Given the description of an element on the screen output the (x, y) to click on. 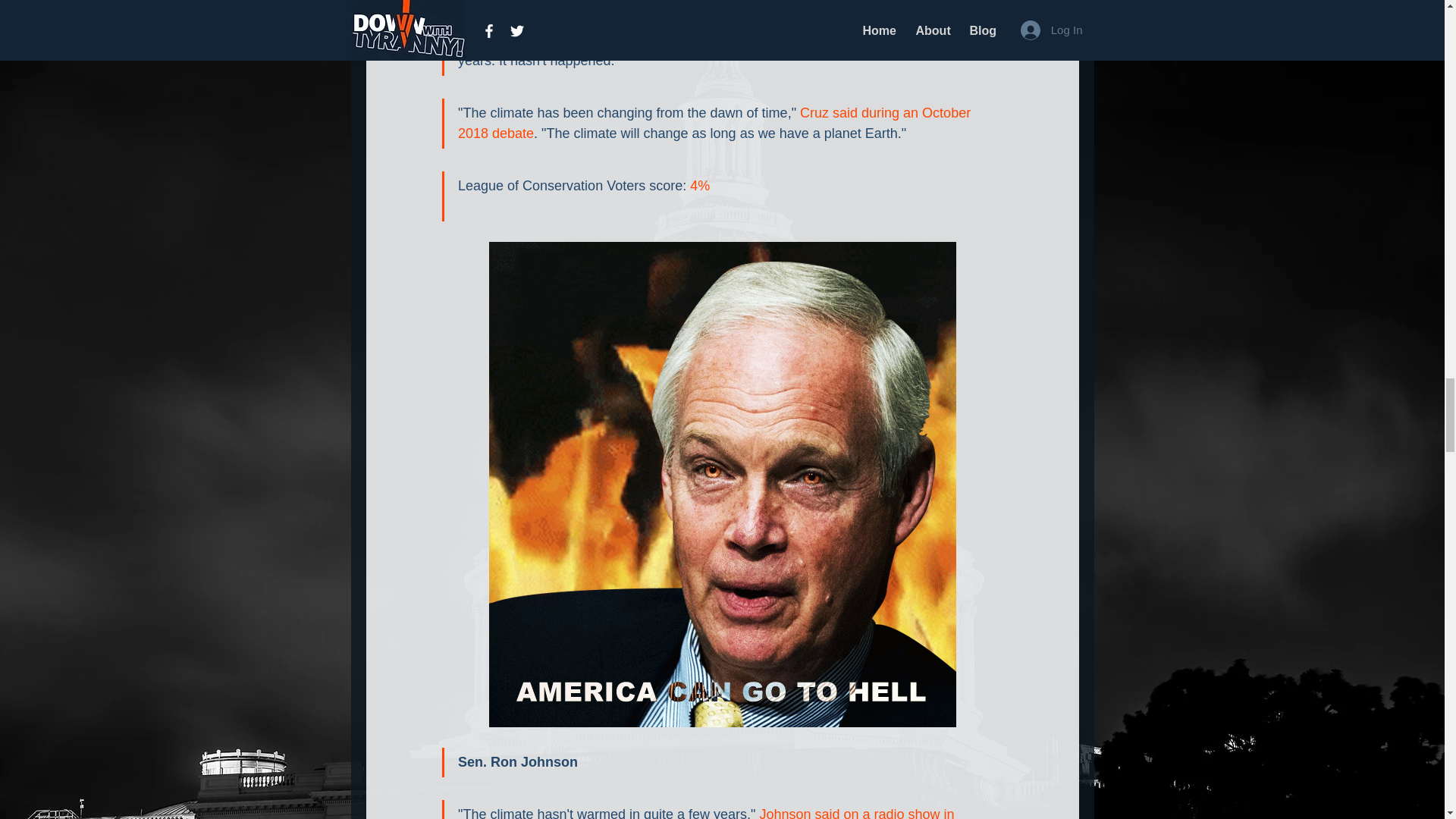
Johnson said on a radio show in 2016 (708, 812)
interview with CNN (575, 3)
Cruz said during an October 2018 debate (716, 122)
